Given the description of an element on the screen output the (x, y) to click on. 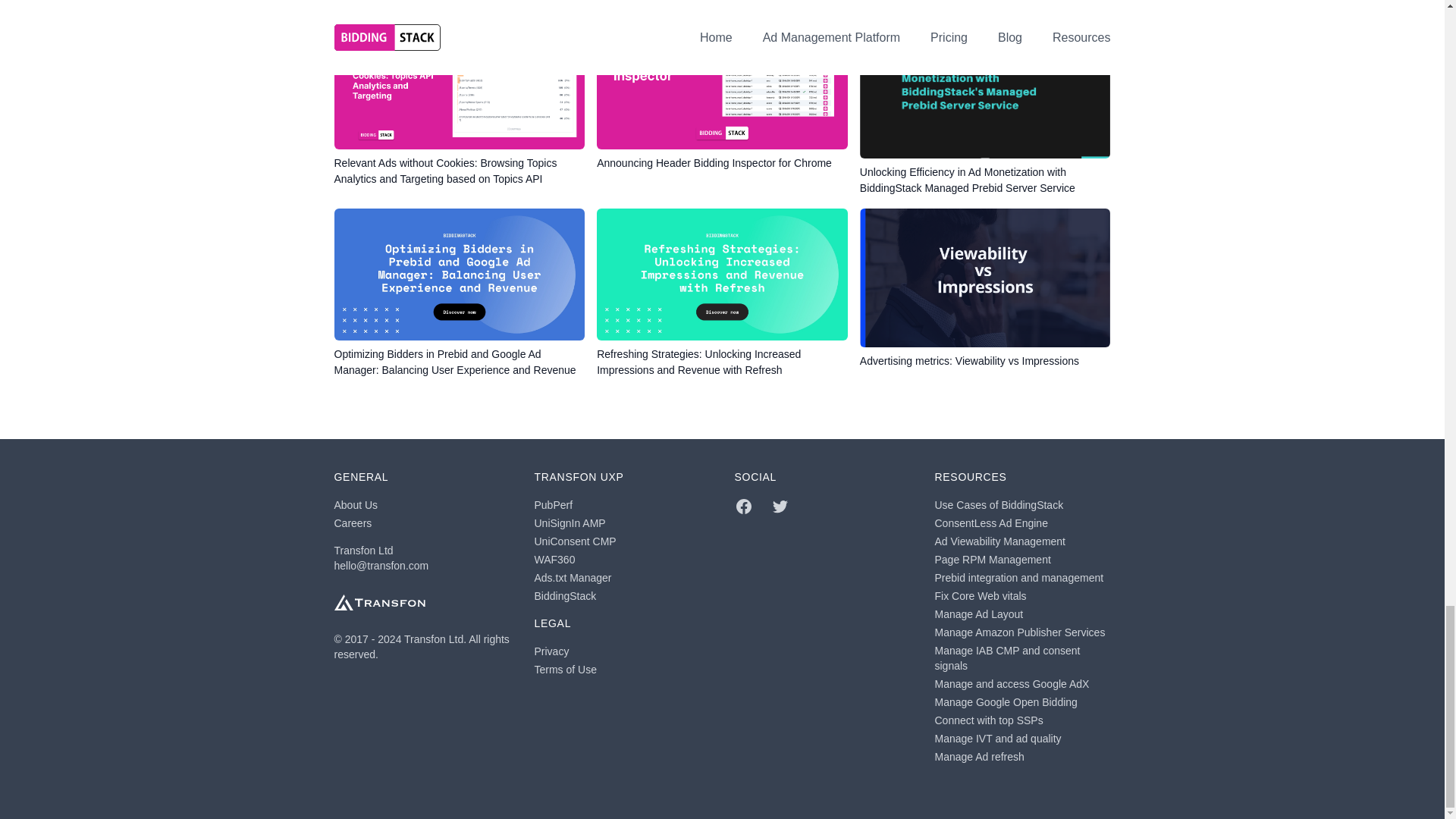
Use Cases (998, 504)
Announcing Header Bidding Inspector for Chrome (721, 106)
Facebook (742, 506)
UniConsent CMP (574, 541)
Ads.txt Manager (572, 577)
Prebid integration and management (1018, 577)
Ad Viewability Management (999, 541)
Fix Core Web vitals (980, 595)
Prebid Management (1018, 577)
Consent Manager (572, 577)
Publisher Performance (553, 504)
About Us (355, 504)
Manage Amazon Publisher Services (1019, 632)
